Given the description of an element on the screen output the (x, y) to click on. 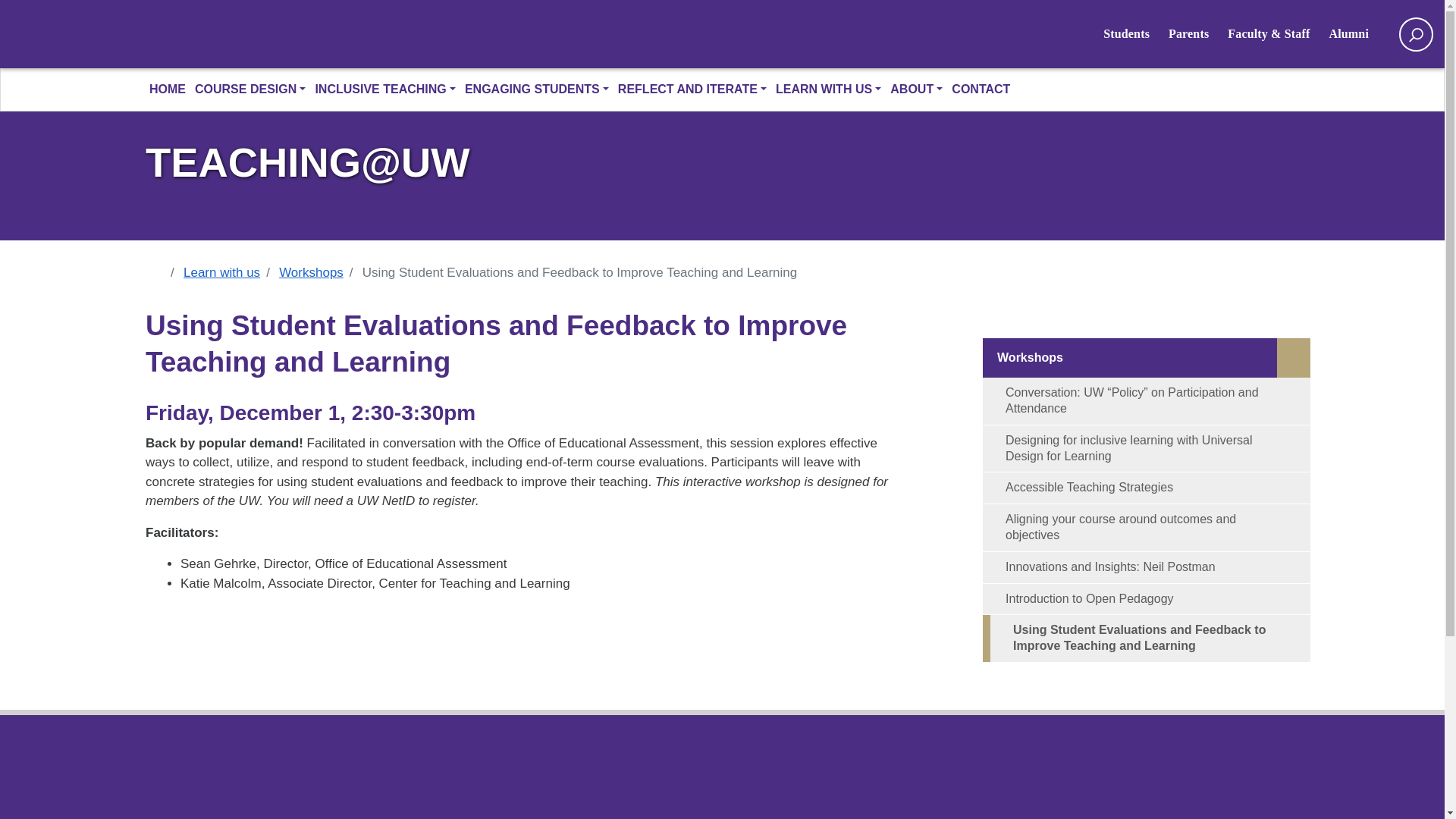
Workshops (320, 272)
University of Washington Home (194, 33)
Parents (1198, 33)
University of Washington (194, 33)
Learn with us (231, 272)
HOME (169, 89)
University of Washington (371, 35)
Students (1136, 33)
ENGAGING STUDENTS (537, 89)
University of Washington Home (371, 35)
